Given the description of an element on the screen output the (x, y) to click on. 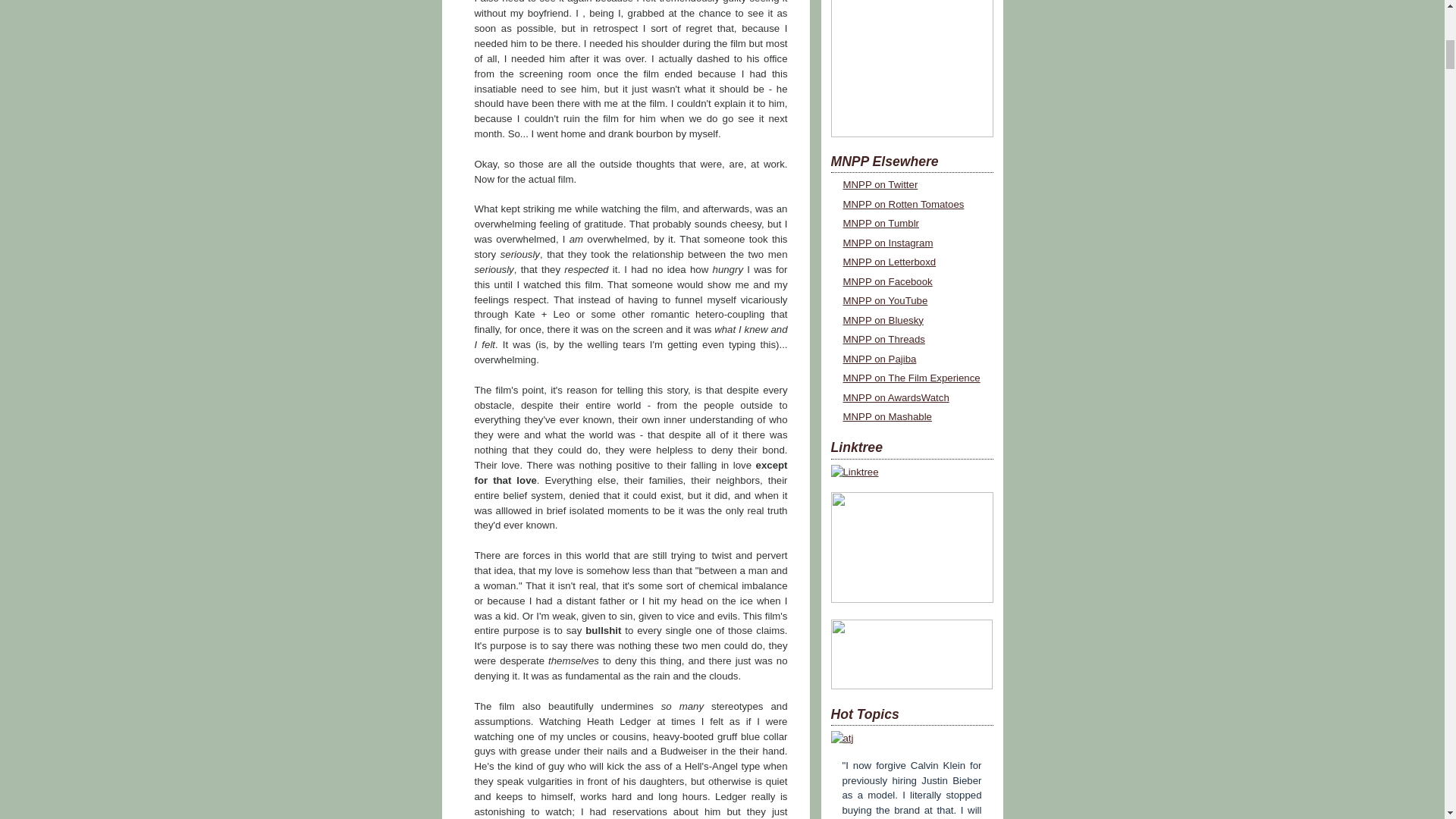
MNPP on Rotten Tomatoes (903, 204)
MNPP on Facebook (888, 281)
MNPP on Instagram (888, 242)
MNPP on Tumblr (881, 223)
MNPP on Pajiba (880, 358)
MNPP on Threads (883, 338)
MNPP on YouTube (885, 300)
MNPP on Letterboxd (889, 261)
MNPP on Twitter (880, 184)
MNPP on Bluesky (883, 319)
